Given the description of an element on the screen output the (x, y) to click on. 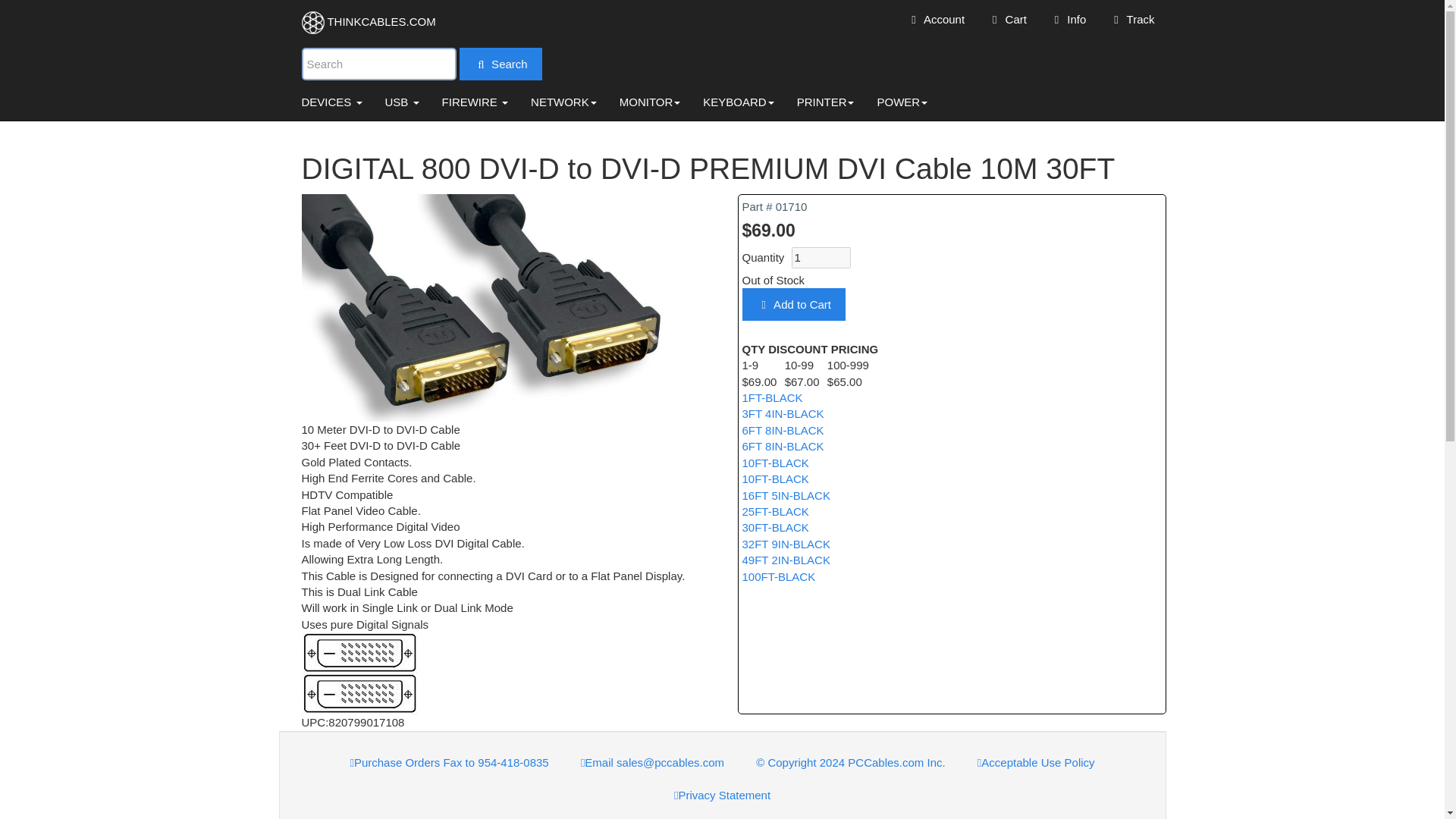
Track (1131, 18)
1 (821, 257)
Cart (1006, 18)
FIREWIRE (474, 101)
NETWORK (563, 101)
Search (500, 62)
USB (402, 101)
Info (1067, 18)
THINKCABLES.COM (367, 22)
Account (935, 18)
MONITOR (650, 101)
DEVICES (330, 101)
